Given the description of an element on the screen output the (x, y) to click on. 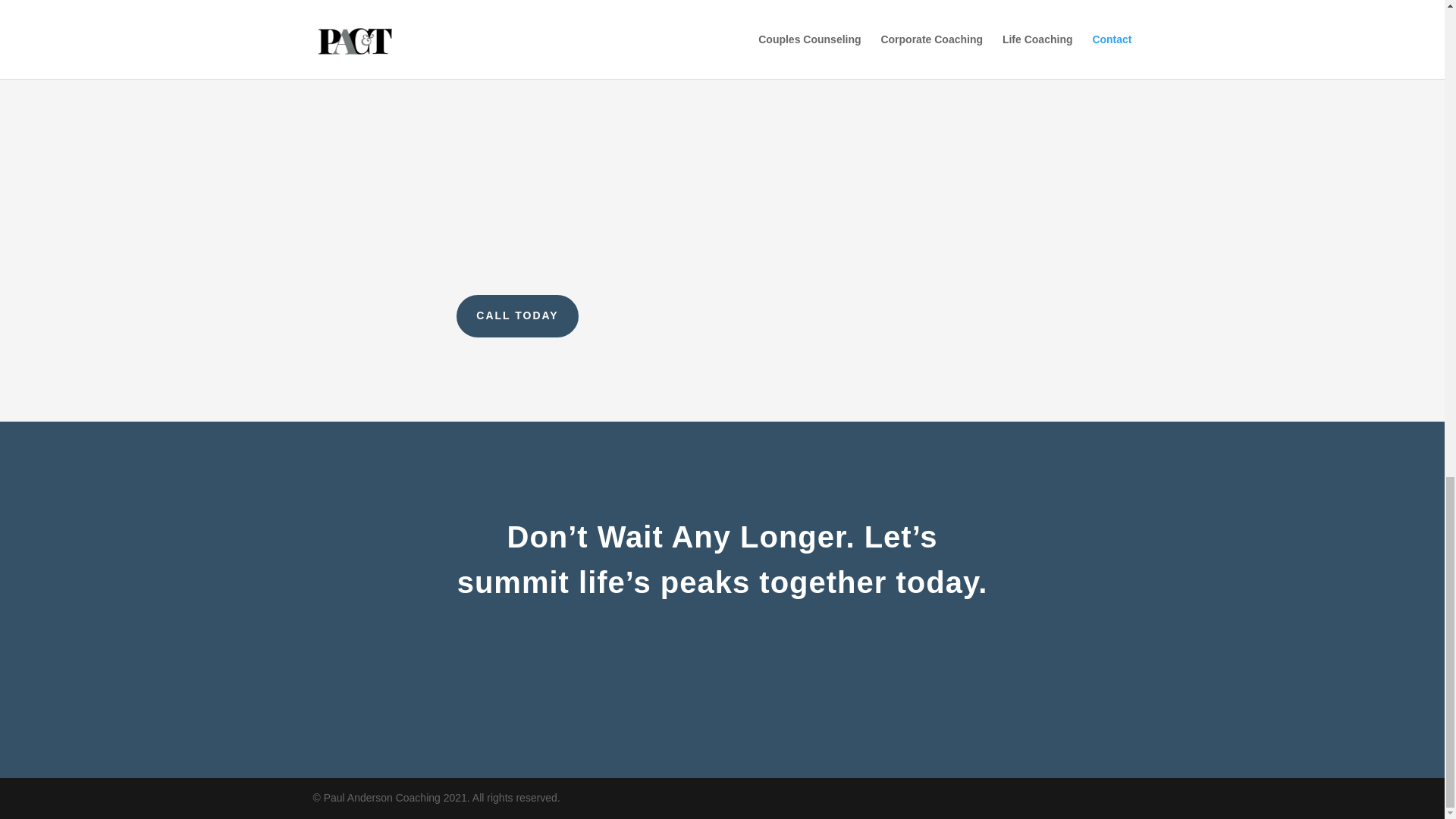
CALL TODAY (517, 315)
